Given the description of an element on the screen output the (x, y) to click on. 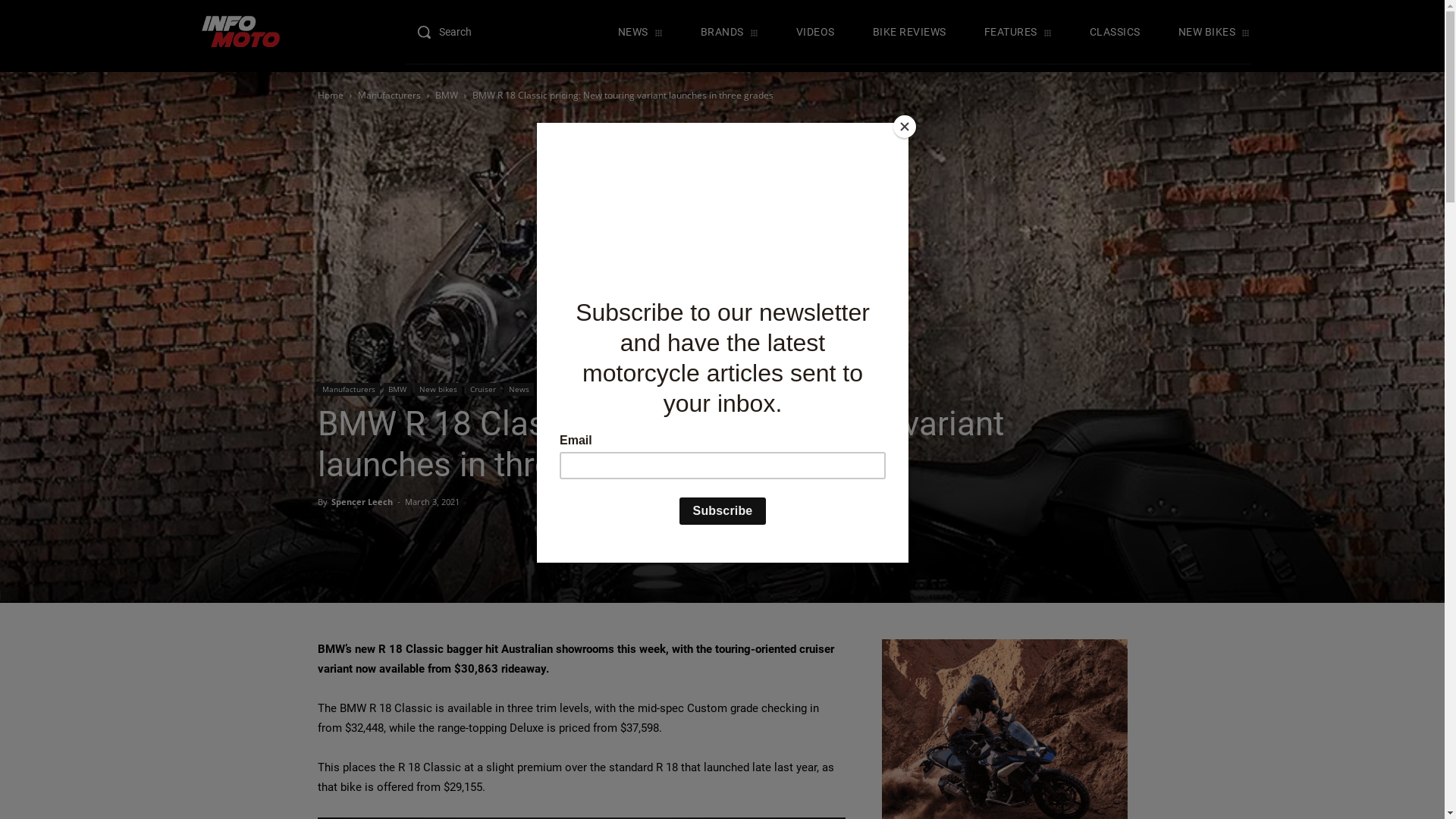
BIKE REVIEWS Element type: text (909, 31)
Cruiser Element type: text (482, 388)
New bikes Element type: text (437, 388)
Home Element type: text (329, 94)
NEW BIKES Element type: text (1214, 31)
Search Element type: text (454, 31)
VIDEOS Element type: text (815, 31)
BMW Element type: text (397, 388)
Manufacturers Element type: text (347, 388)
Manufacturers Element type: text (388, 94)
BRANDS Element type: text (729, 31)
News Element type: text (518, 388)
CLASSICS Element type: text (1114, 31)
FEATURES Element type: text (1017, 31)
Spencer Leech Element type: text (361, 501)
BMW Element type: text (446, 94)
NEWS Element type: text (640, 31)
